Given the description of an element on the screen output the (x, y) to click on. 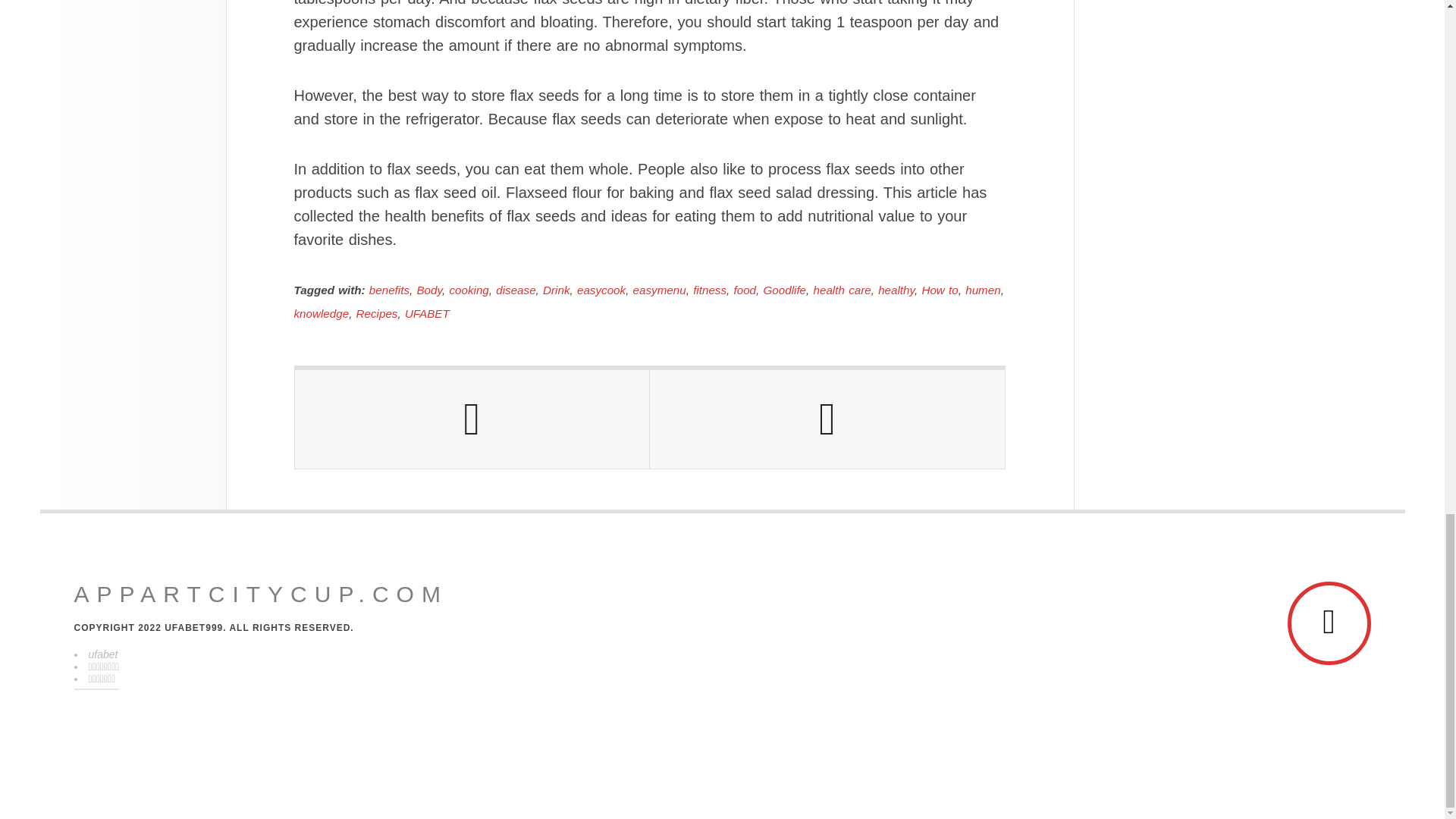
easycook (601, 289)
Previous Post (471, 419)
AppArtCityCup.com (261, 594)
healthy (895, 289)
cooking (467, 289)
Goodlife (784, 289)
easymenu (659, 289)
Next Post (826, 419)
fitness (709, 289)
health care (841, 289)
knowledge (321, 313)
Drink (556, 289)
Body (429, 289)
Recipes (376, 313)
food (744, 289)
